Given the description of an element on the screen output the (x, y) to click on. 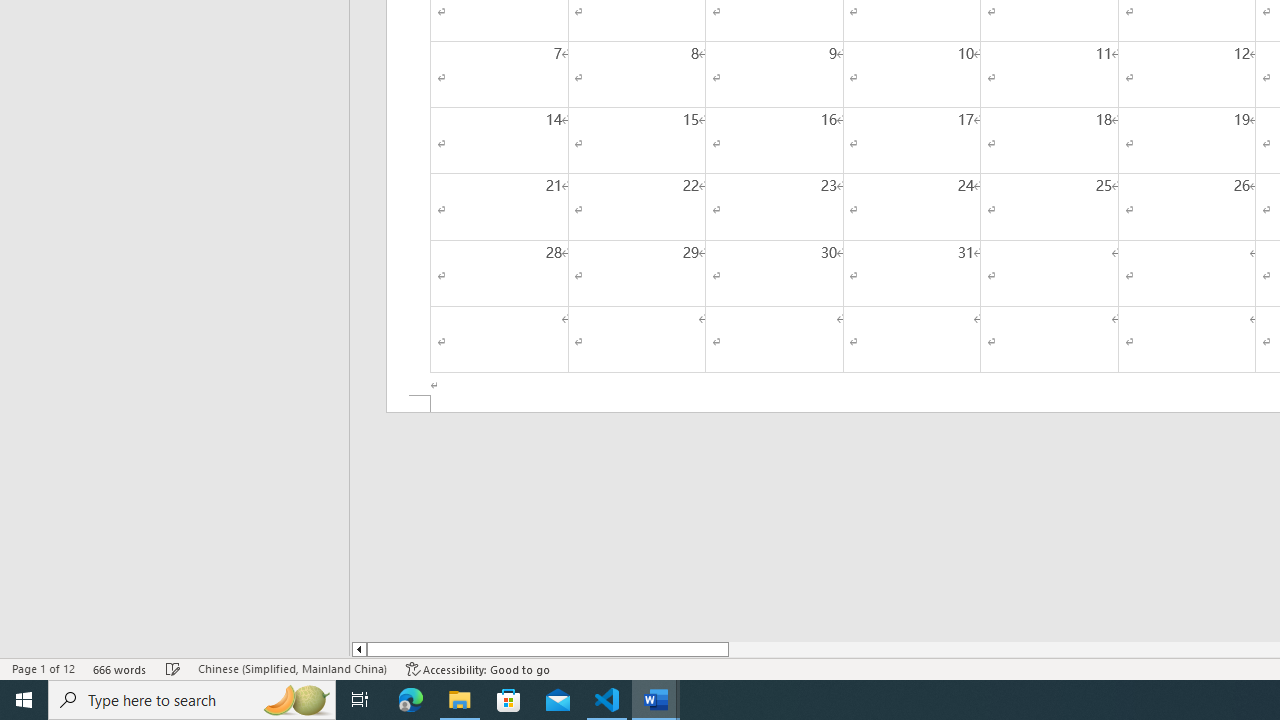
Column left (358, 649)
Page Number Page 1 of 12 (43, 668)
Word Count 666 words (119, 668)
